Given the description of an element on the screen output the (x, y) to click on. 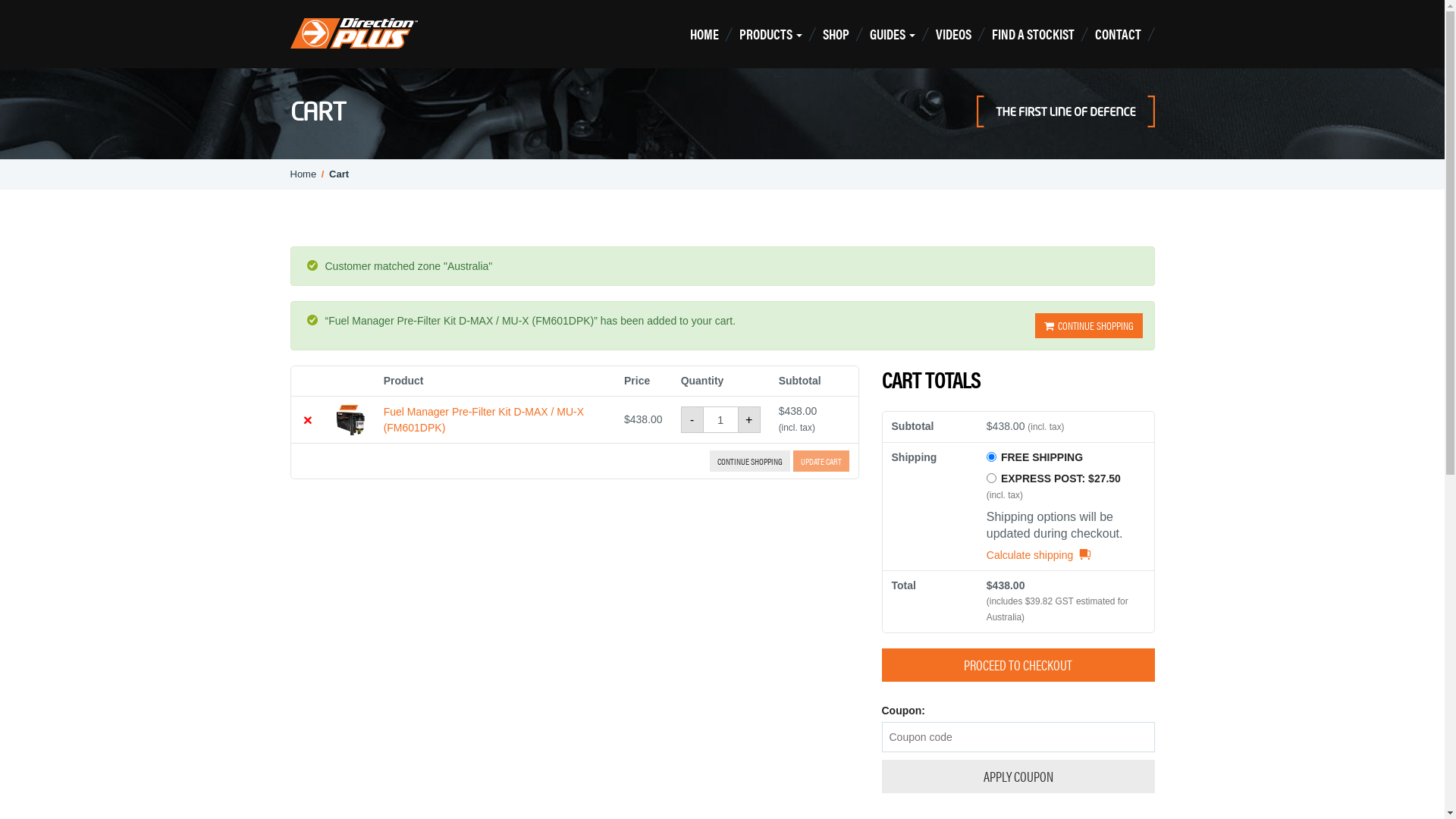
PRODUCTS Element type: text (773, 34)
Direction-Plus Element type: text (353, 33)
CONTINUE SHOPPING Element type: text (749, 460)
SHOP Element type: text (838, 34)
UPDATE CART Element type: text (821, 460)
Fuel Manager Pre-Filter Kit D-MAX / MU-X (FM601DPK) Element type: text (483, 418)
FIND A STOCKIST Element type: text (1035, 34)
HOME Element type: text (706, 34)
VIDEOS Element type: text (956, 34)
GUIDES Element type: text (895, 34)
APPLY COUPON Element type: text (1017, 776)
PROCEED TO CHECKOUT Element type: text (1017, 664)
- Element type: text (691, 419)
Home Element type: text (302, 173)
CONTACT Element type: text (1120, 34)
Calculate shipping Element type: text (1038, 555)
+ Element type: text (748, 419)
Qty Element type: hover (720, 419)
CONTINUE SHOPPING Element type: text (1088, 325)
